Given the description of an element on the screen output the (x, y) to click on. 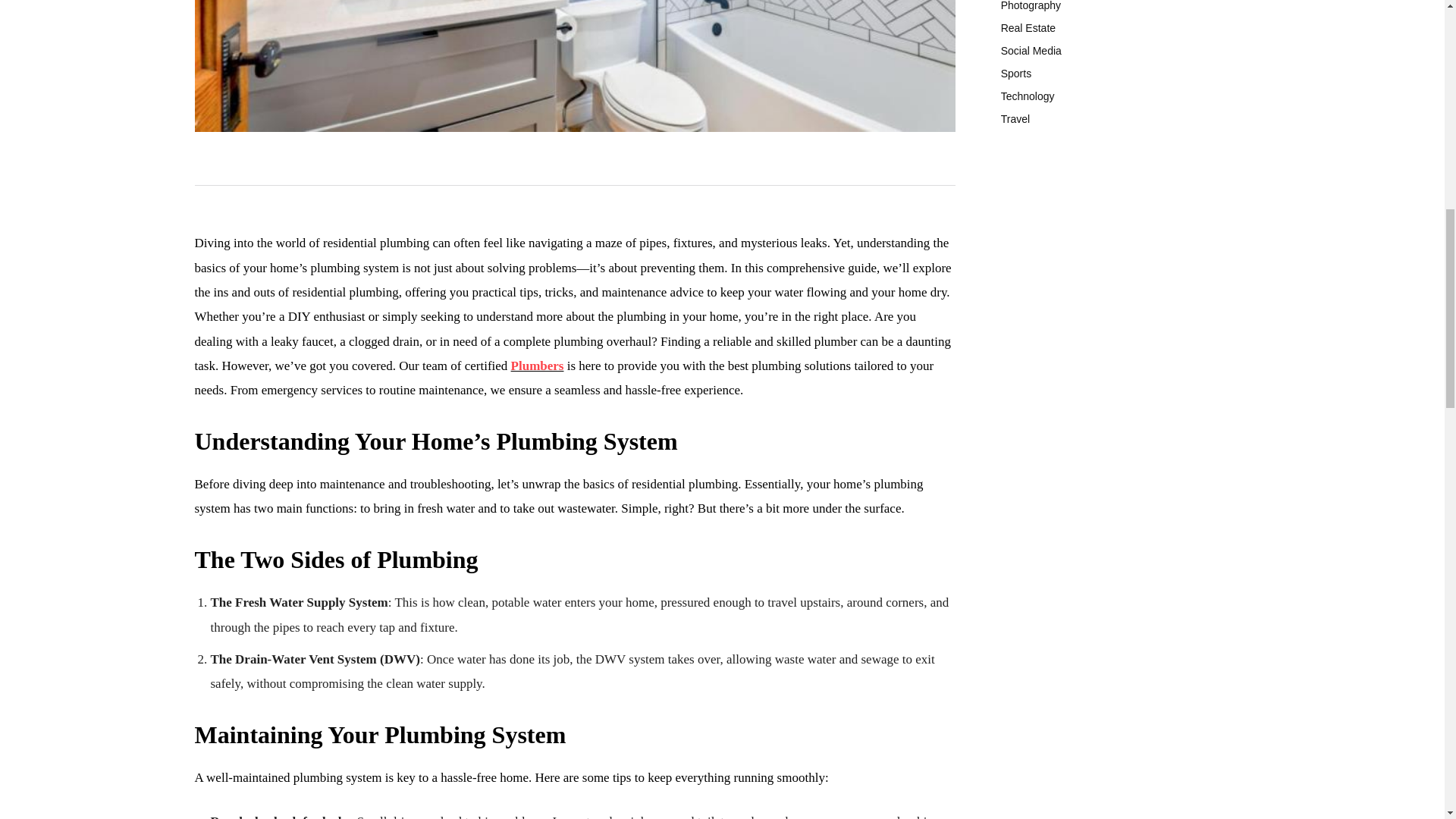
Plumbers (537, 365)
